Given the description of an element on the screen output the (x, y) to click on. 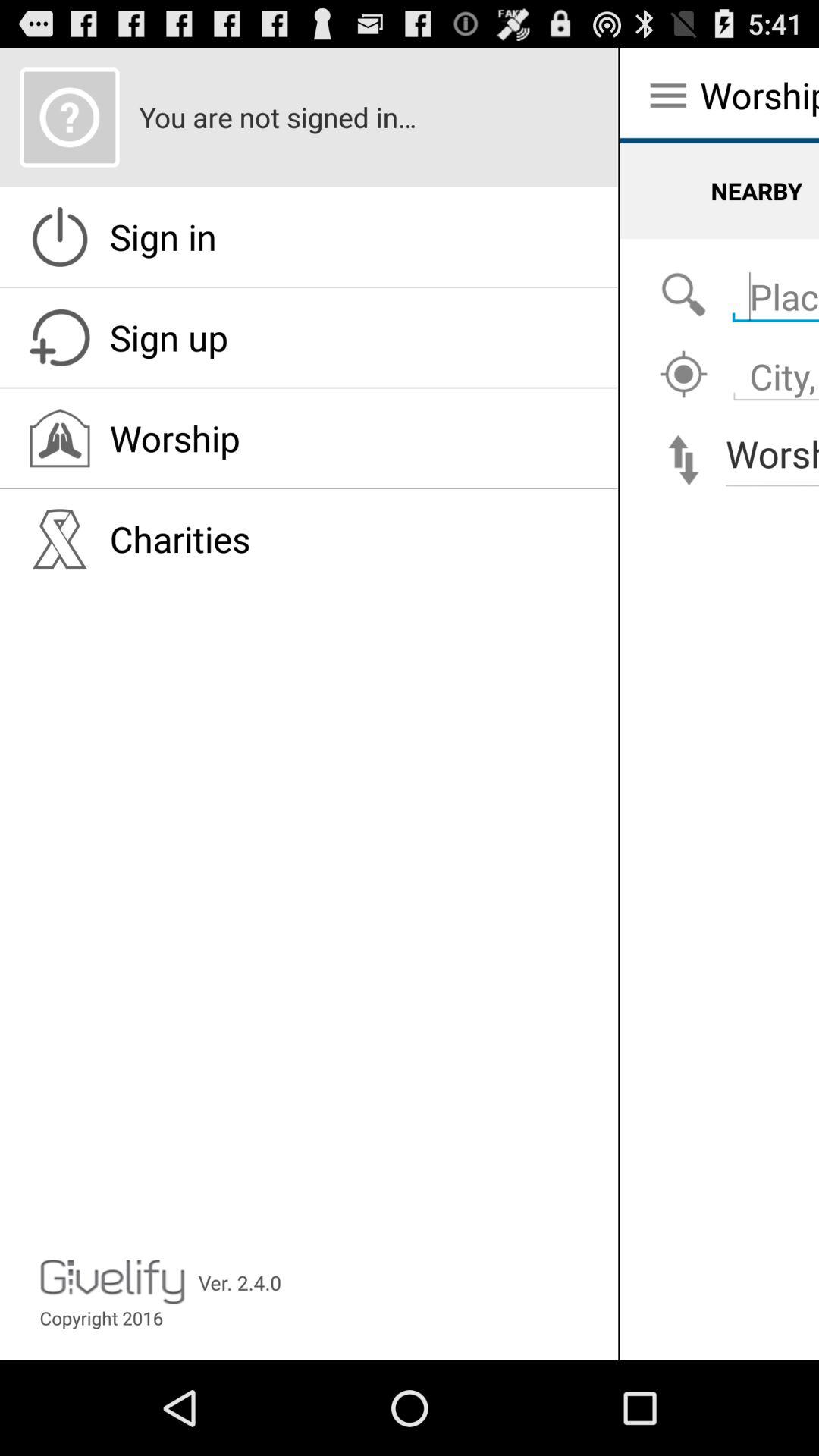
go to place search (683, 295)
